Given the description of an element on the screen output the (x, y) to click on. 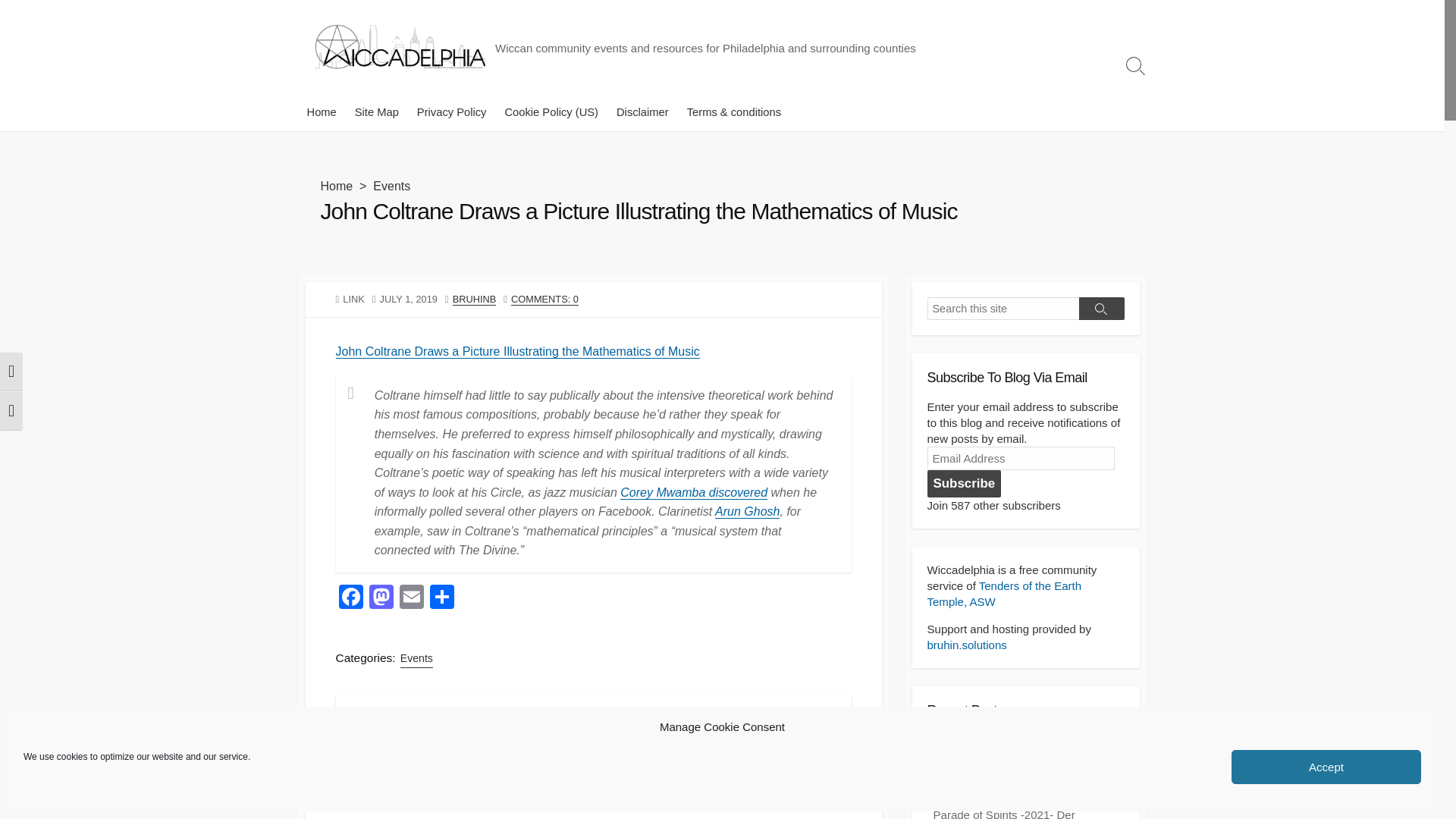
Corey Mwamba discovered (693, 492)
Facebook (349, 598)
Arun Ghosh (746, 511)
Home (336, 185)
Events (416, 658)
Share (441, 598)
Accept (1326, 766)
Mastodon (380, 598)
Events (391, 185)
COMMENTS: 0 (544, 298)
BRUHINB (474, 298)
Site Map (376, 112)
Home (321, 112)
Email (411, 598)
Disclaimer (642, 112)
